Given the description of an element on the screen output the (x, y) to click on. 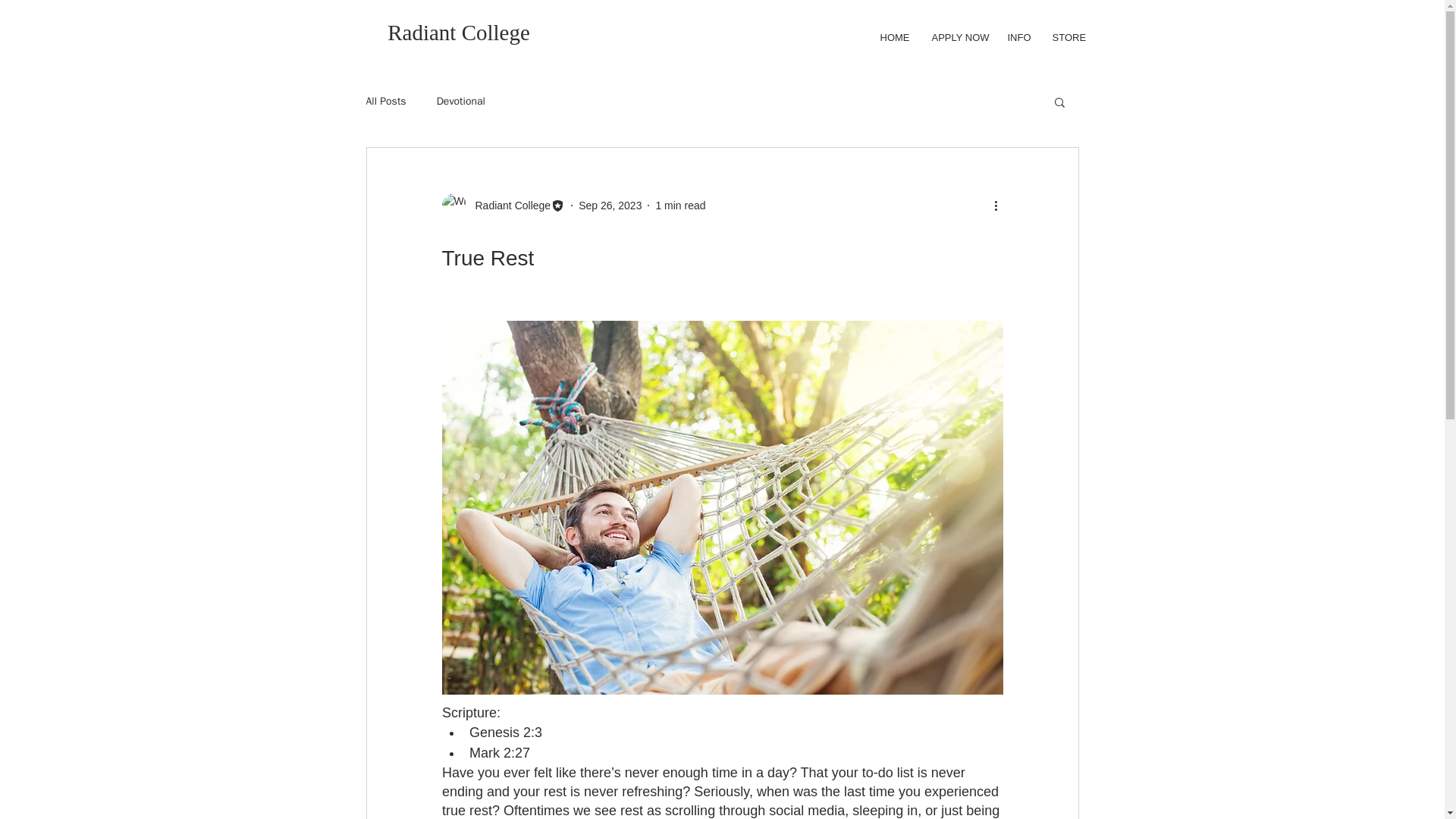
All Posts (385, 101)
Sep 26, 2023 (610, 204)
INFO (1018, 37)
Radiant College (502, 205)
Devotional (460, 101)
HOME (894, 37)
Radiant College (458, 32)
1 min read (679, 204)
APPLY NOW (957, 37)
Radiant College (507, 204)
